Given the description of an element on the screen output the (x, y) to click on. 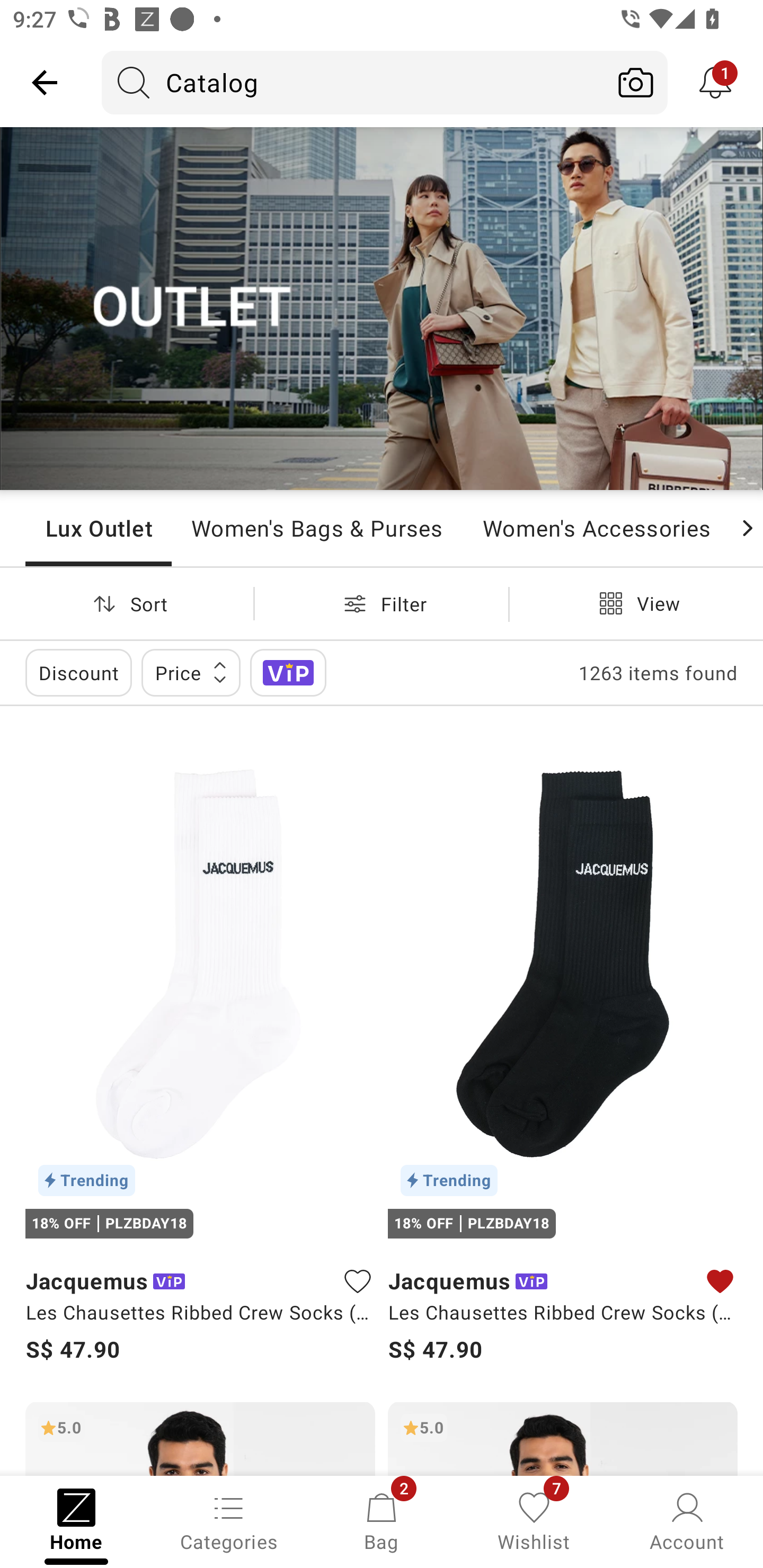
Navigate up (44, 82)
Catalog (352, 82)
Women's Bags & Purses (316, 527)
Women's Accessories (595, 527)
Sort (126, 603)
Filter (381, 603)
View (636, 603)
Discount (78, 672)
Price (190, 672)
Categories (228, 1519)
Bag, 2 new notifications Bag (381, 1519)
Wishlist, 7 new notifications Wishlist (533, 1519)
Account (686, 1519)
